Given the description of an element on the screen output the (x, y) to click on. 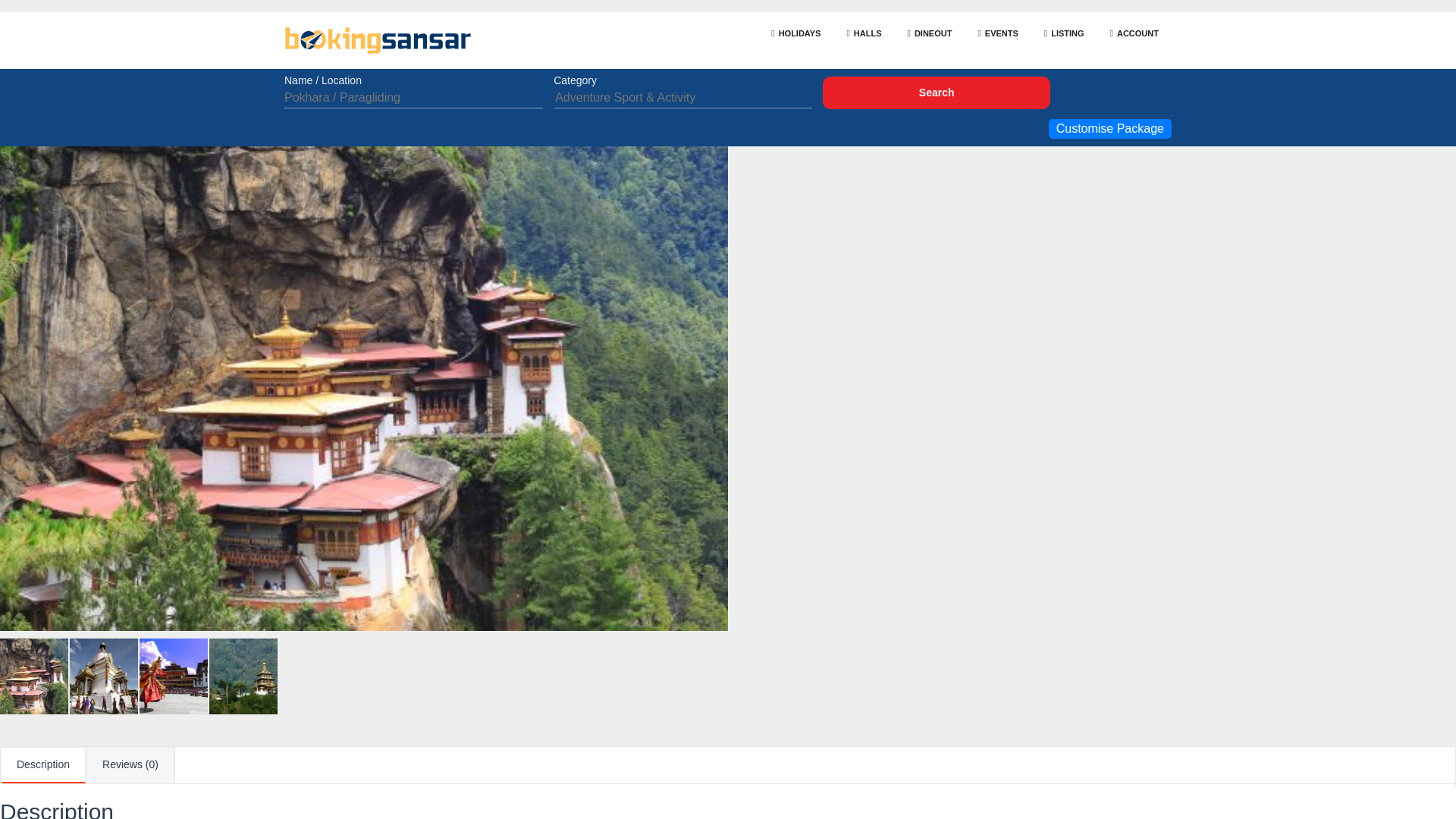
LISTING (1063, 33)
search (935, 92)
ACCOUNT (1134, 33)
BookingSansar.com (378, 40)
HALLS (862, 33)
BookingSansar.com (381, 40)
Customise Package (1110, 128)
HOLIDAYS (795, 33)
Description (43, 764)
DINEOUT (930, 33)
search (935, 92)
EVENTS (996, 33)
